Given the description of an element on the screen output the (x, y) to click on. 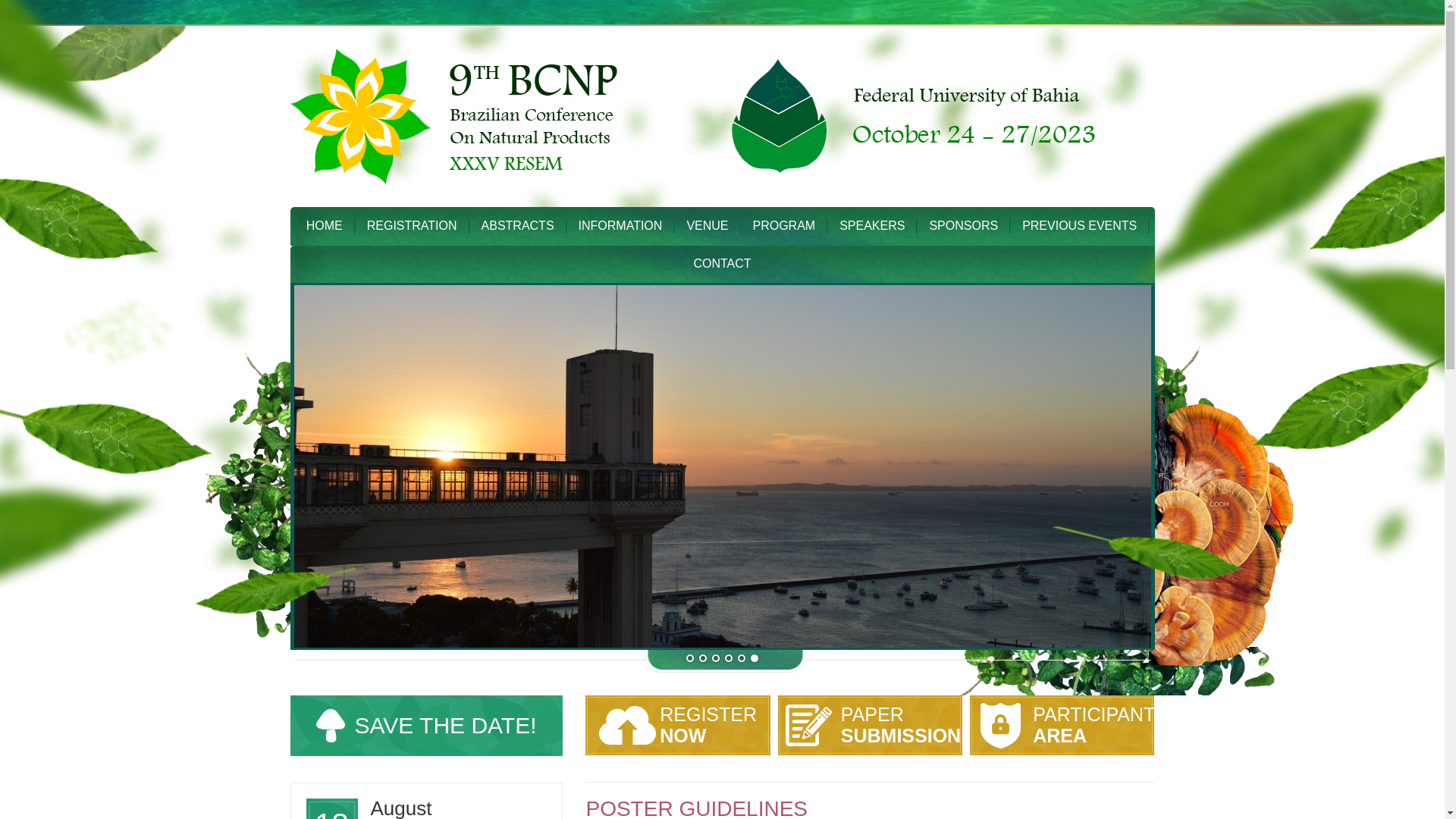
VENUE (707, 225)
SPEAKERS (871, 225)
REGISTRATION (411, 225)
HOME (1061, 725)
CONTACT (324, 225)
PREVIOUS EVENTS (677, 725)
SPONSORS (869, 725)
PROGRAM (721, 263)
INFORMATION (1079, 225)
ABSTRACTS (963, 225)
